Given the description of an element on the screen output the (x, y) to click on. 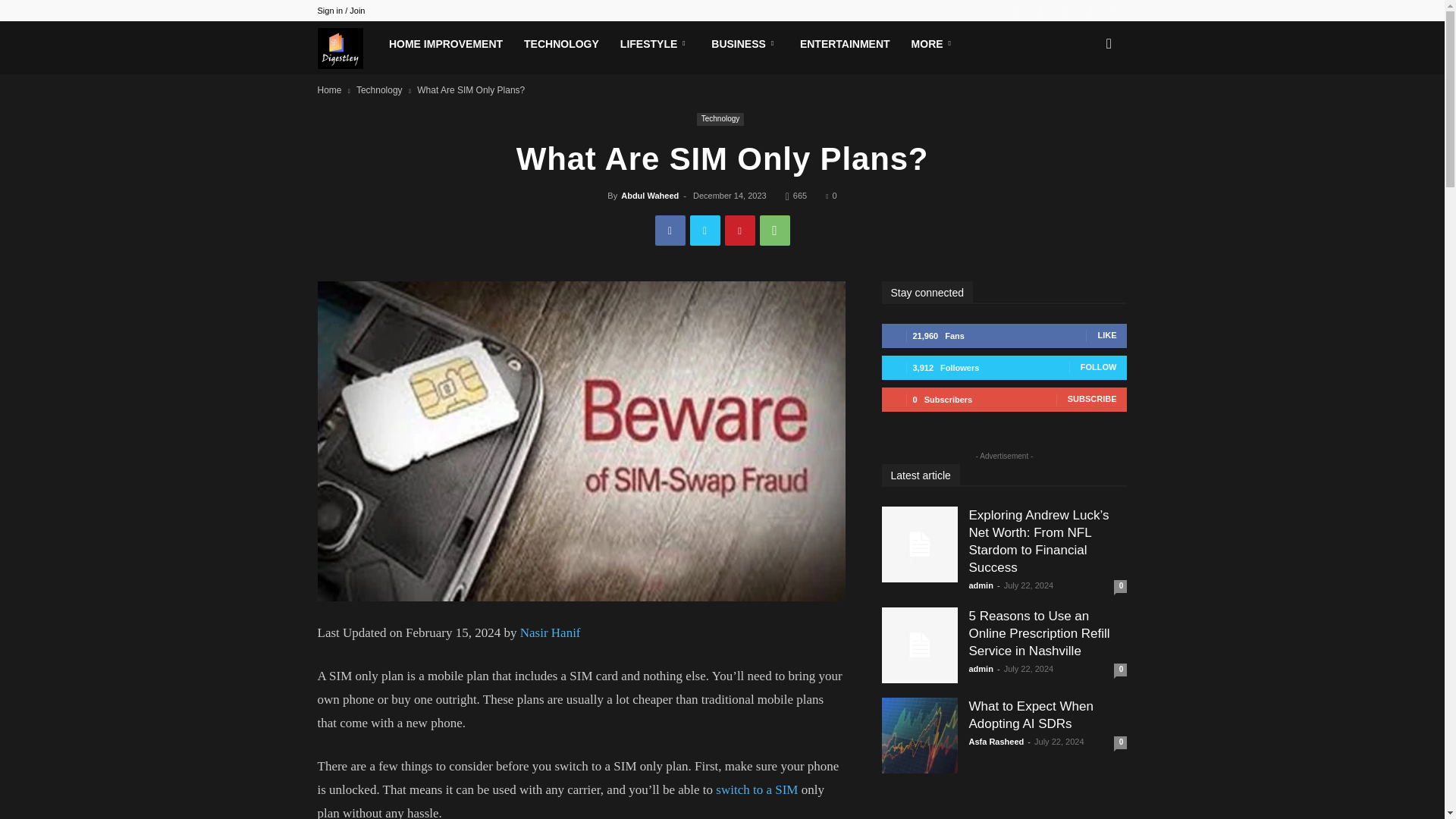
View all posts in Technology (379, 90)
Twitter (705, 230)
HOME IMPROVEMENT (445, 43)
Facebook (670, 230)
Digestley (347, 47)
TECHNOLOGY (561, 43)
Vimeo (1090, 10)
Facebook (1040, 10)
VKontakte (1114, 10)
Behance (1015, 10)
WhatsApp (775, 230)
Pinterest (740, 230)
Twitter (1065, 10)
